Given the description of an element on the screen output the (x, y) to click on. 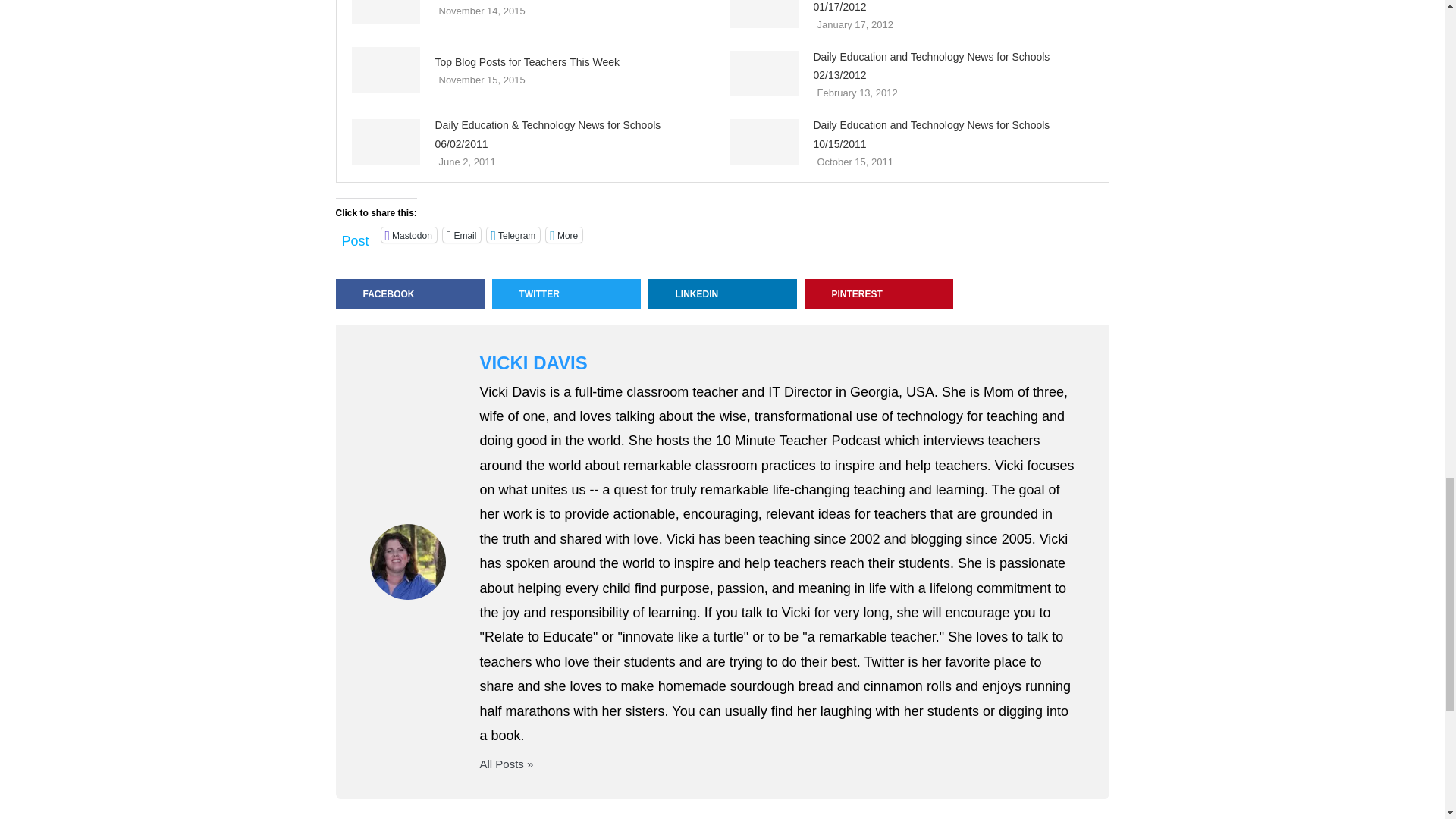
Top Blog Posts for Teachers This Week (386, 69)
Top Education Tweets of the Week: November 14, 2015 (386, 11)
Click to share on Mastodon (408, 234)
Click to share on Telegram (513, 234)
Click to email a link to a friend (461, 234)
